Given the description of an element on the screen output the (x, y) to click on. 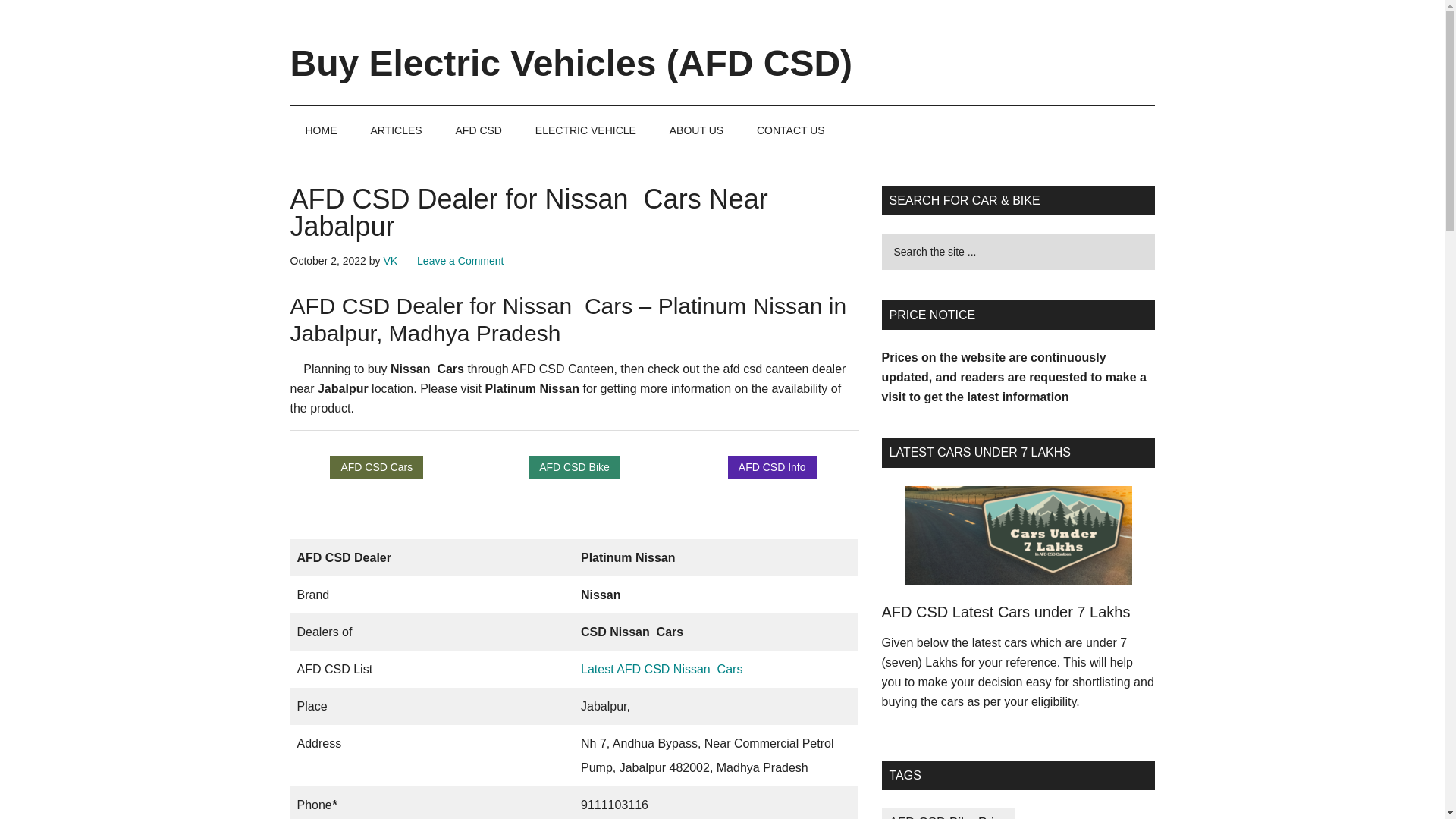
AFD CSD (477, 130)
ELECTRIC VEHICLE (584, 130)
Latest AFD CSD Nissan  Cars (661, 668)
Leave a Comment (459, 260)
VK (389, 260)
ARTICLES (395, 130)
AFD CSD Info (772, 467)
ABOUT US (695, 130)
